Given the description of an element on the screen output the (x, y) to click on. 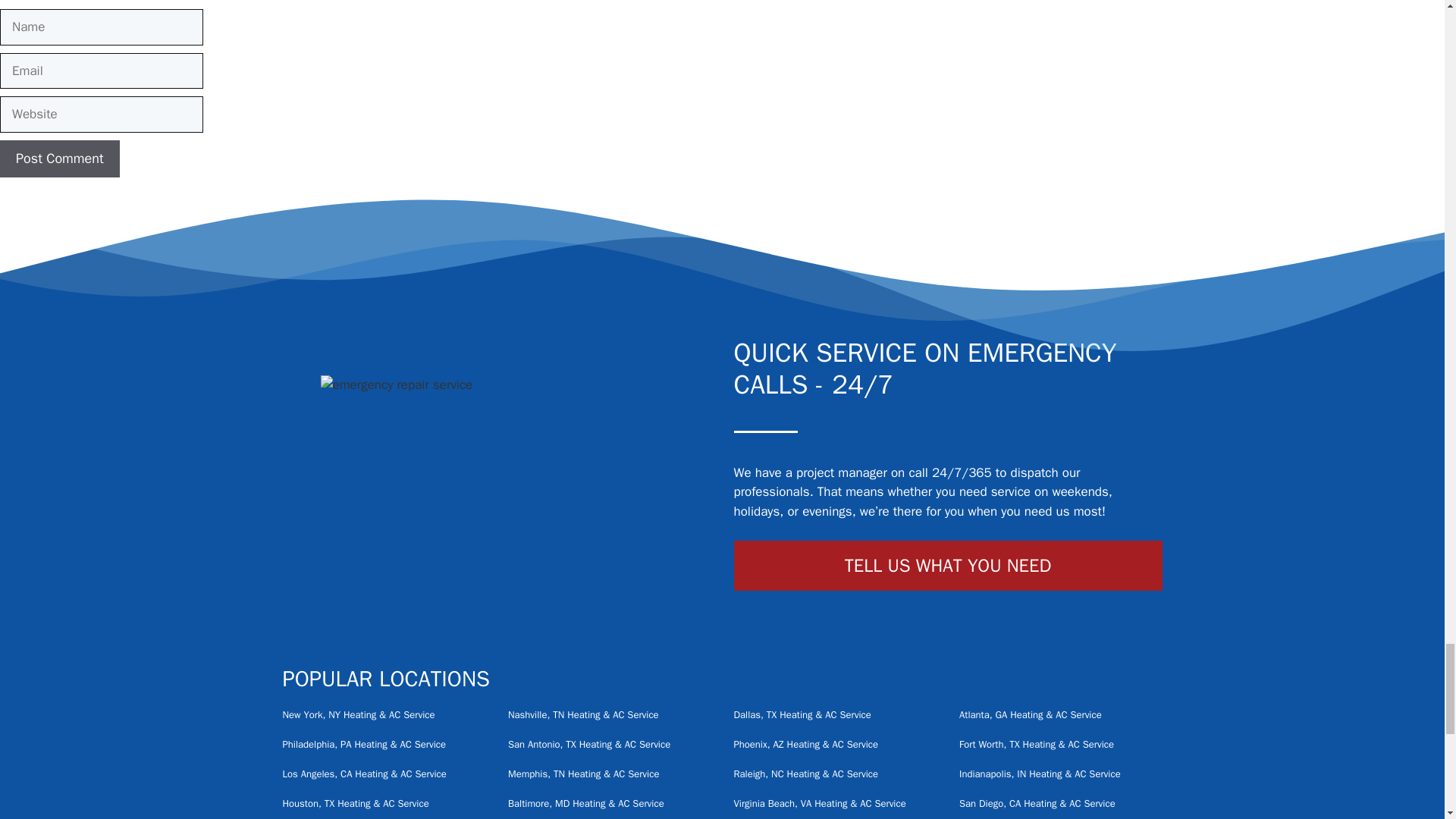
Post Comment (59, 158)
